Given the description of an element on the screen output the (x, y) to click on. 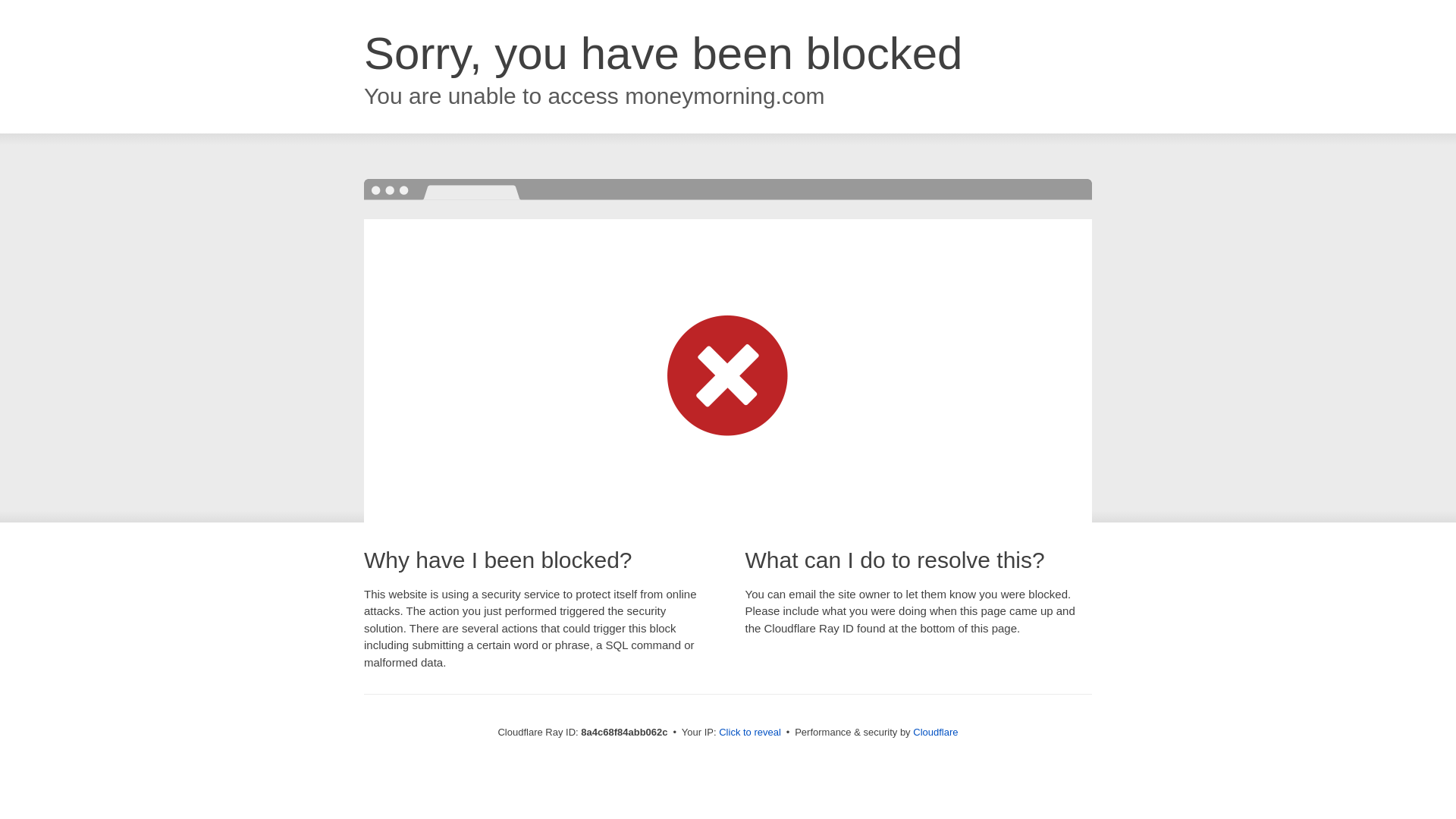
Cloudflare (935, 731)
Click to reveal (749, 732)
